Given the description of an element on the screen output the (x, y) to click on. 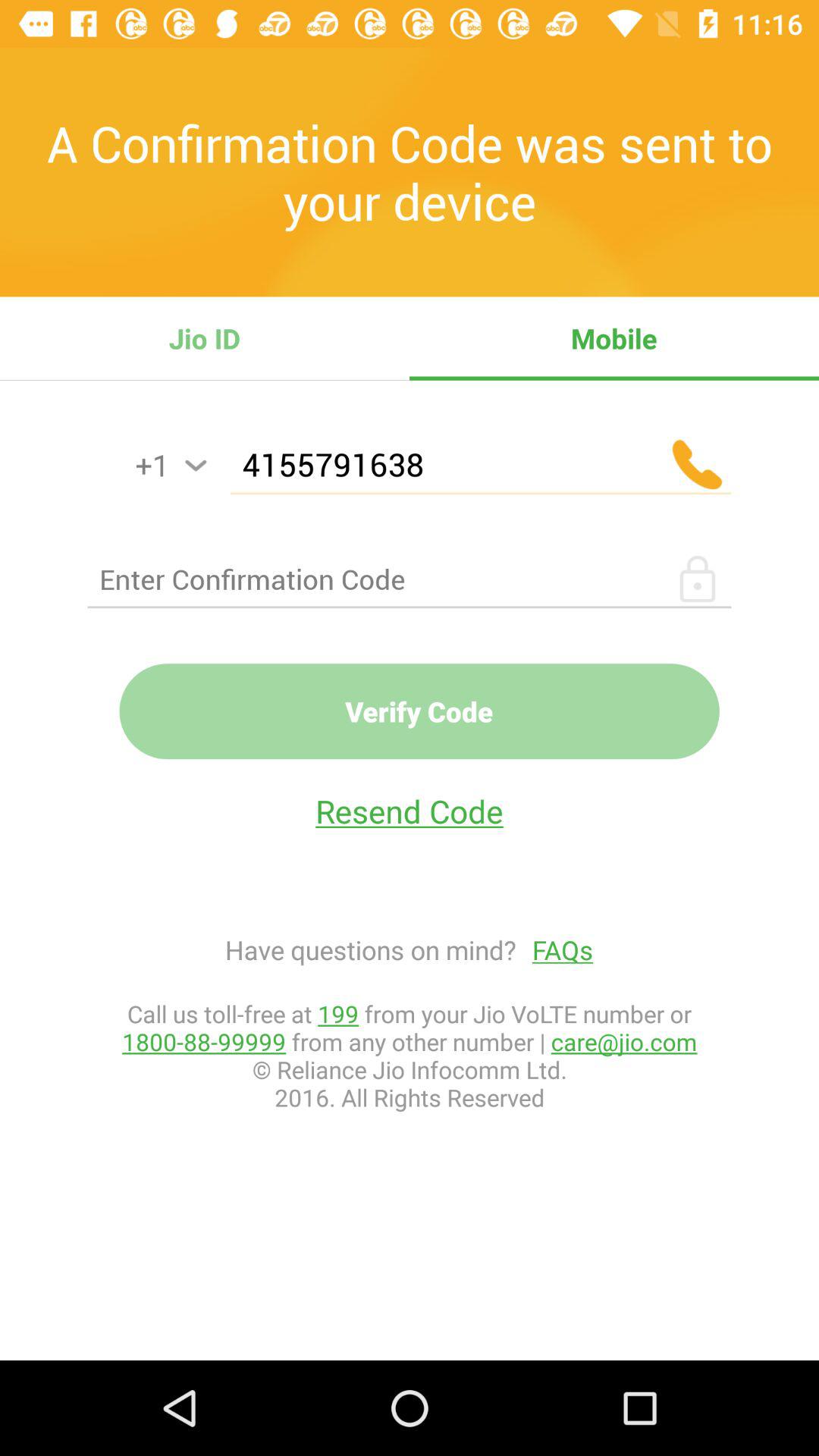
launch verify code (419, 711)
